Given the description of an element on the screen output the (x, y) to click on. 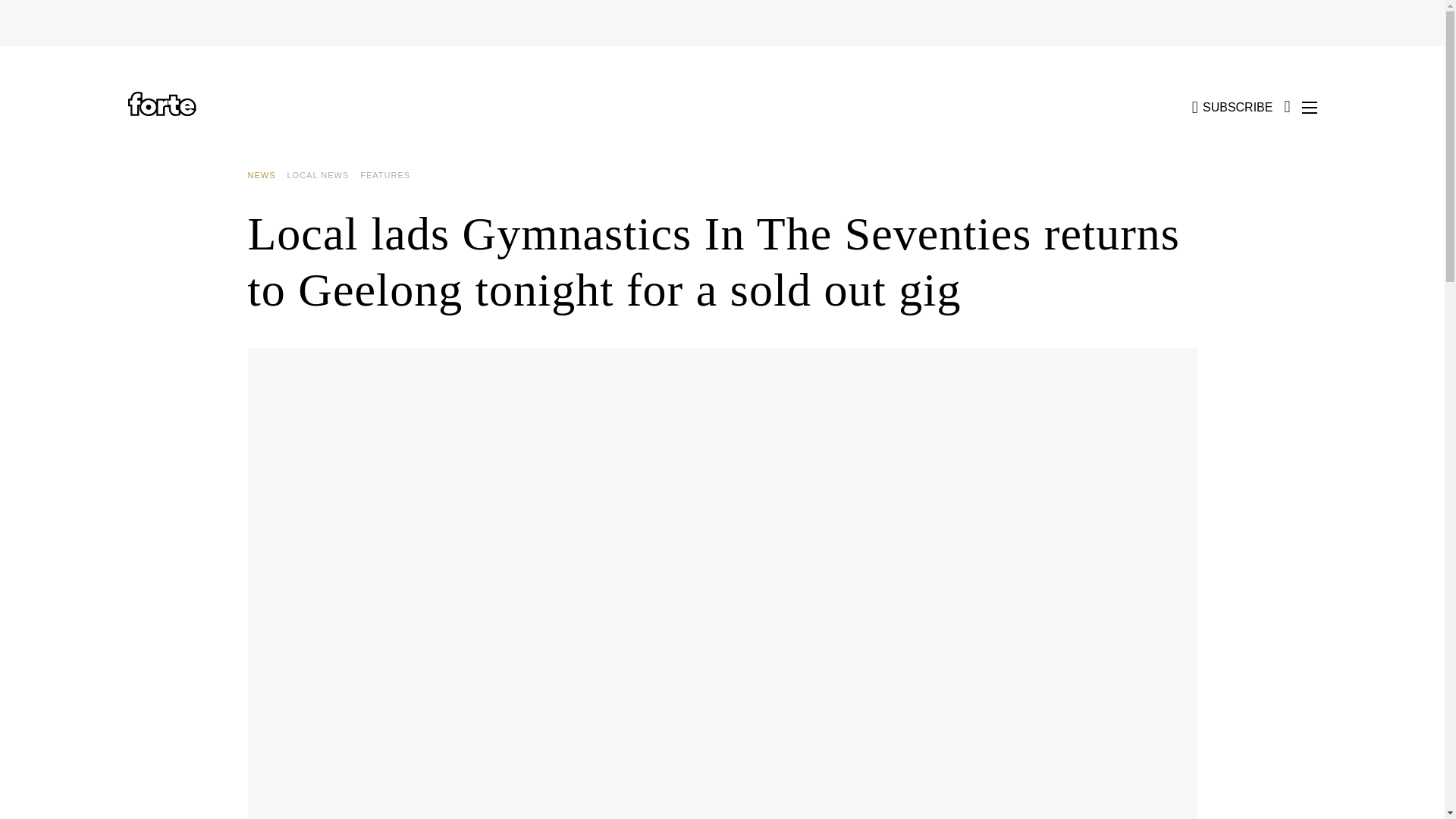
FEATURES (390, 175)
LOCAL NEWS (322, 175)
NEWS (266, 175)
